Given the description of an element on the screen output the (x, y) to click on. 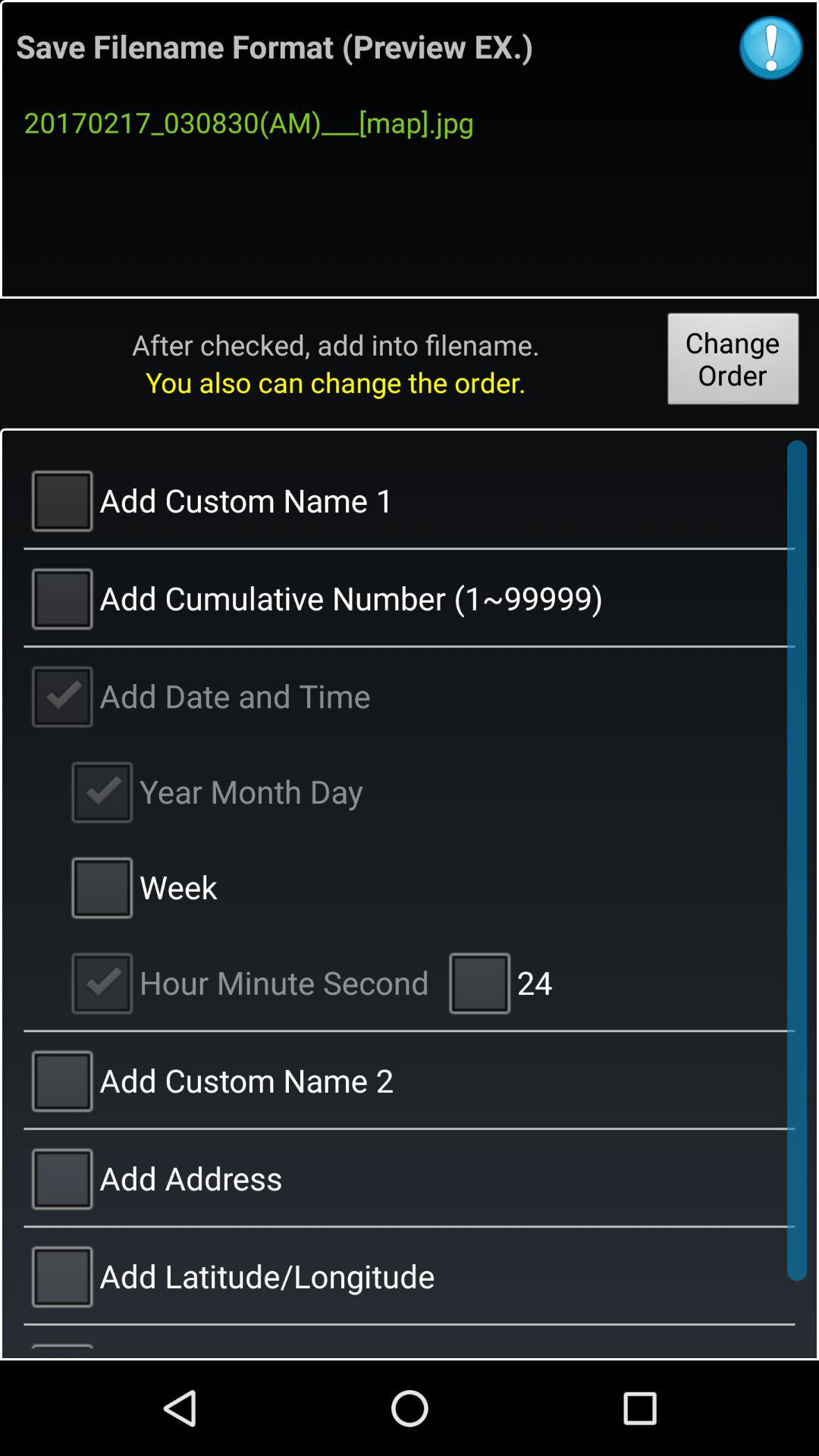
file information (771, 47)
